Given the description of an element on the screen output the (x, y) to click on. 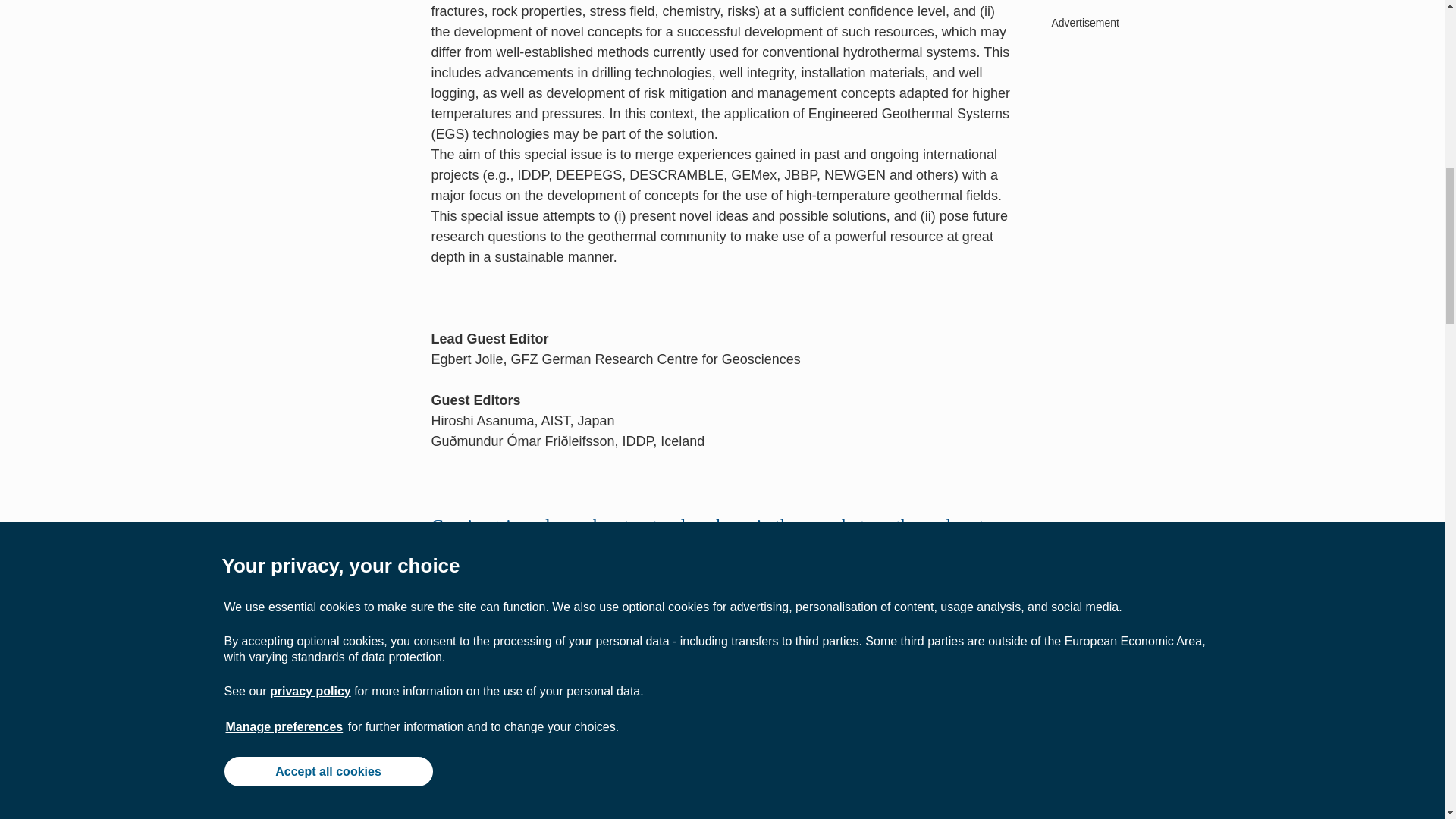
Full Text (461, 762)
PDF (520, 762)
